Given the description of an element on the screen output the (x, y) to click on. 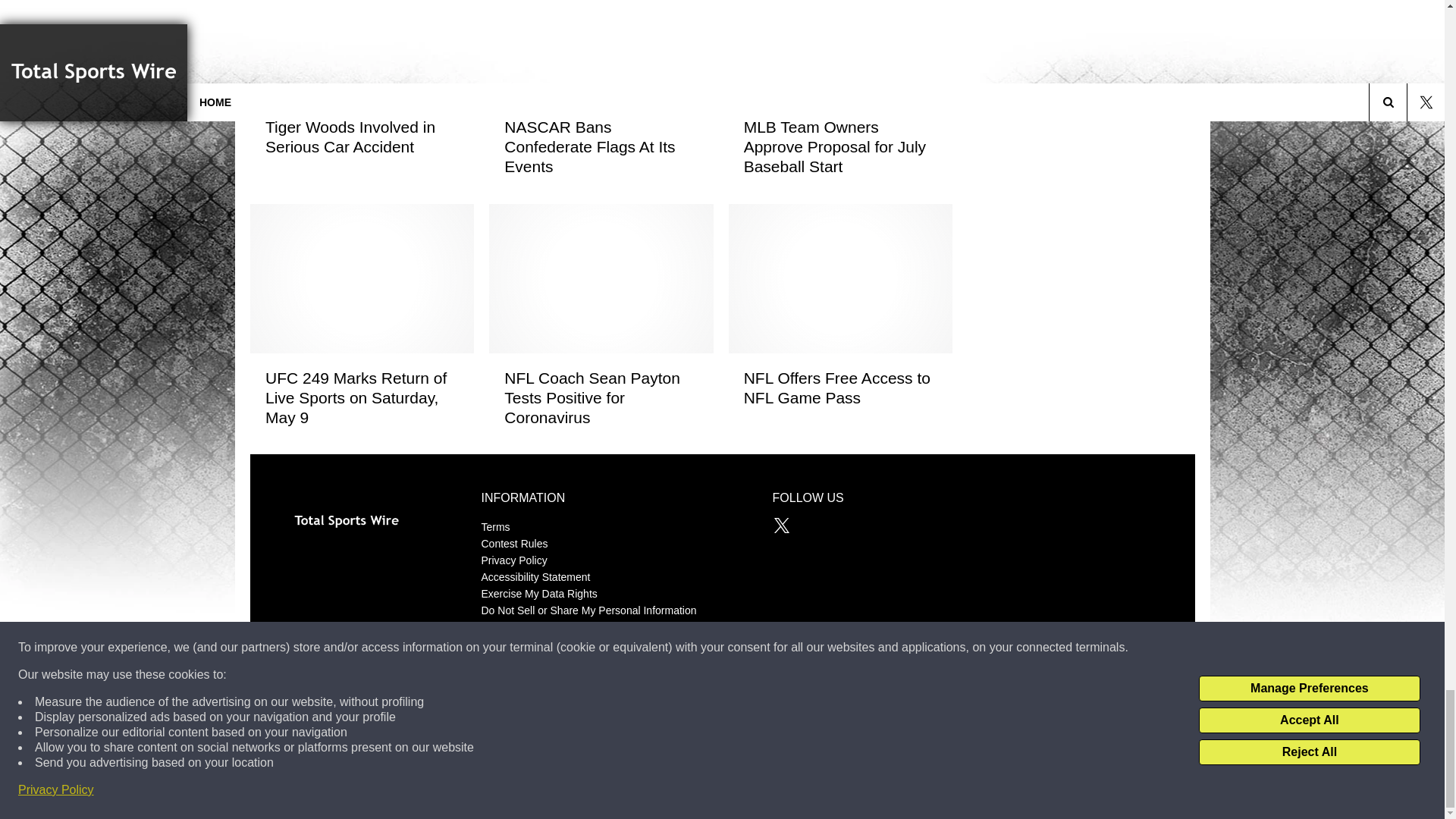
NFL Offers Free Access to NFL Game Pass (839, 387)
MLB Team Owners Approve Proposal for July Baseball Start (839, 146)
Tiger Woods Involved in Serious Car Accident (361, 136)
NASCAR Bans Confederate Flags At Its Events (600, 146)
NFL Coach Sean Payton Tests Positive for Coronavirus (600, 396)
UFC 249 Marks Return of Live Sports on Saturday, May 9 (361, 396)
